Given the description of an element on the screen output the (x, y) to click on. 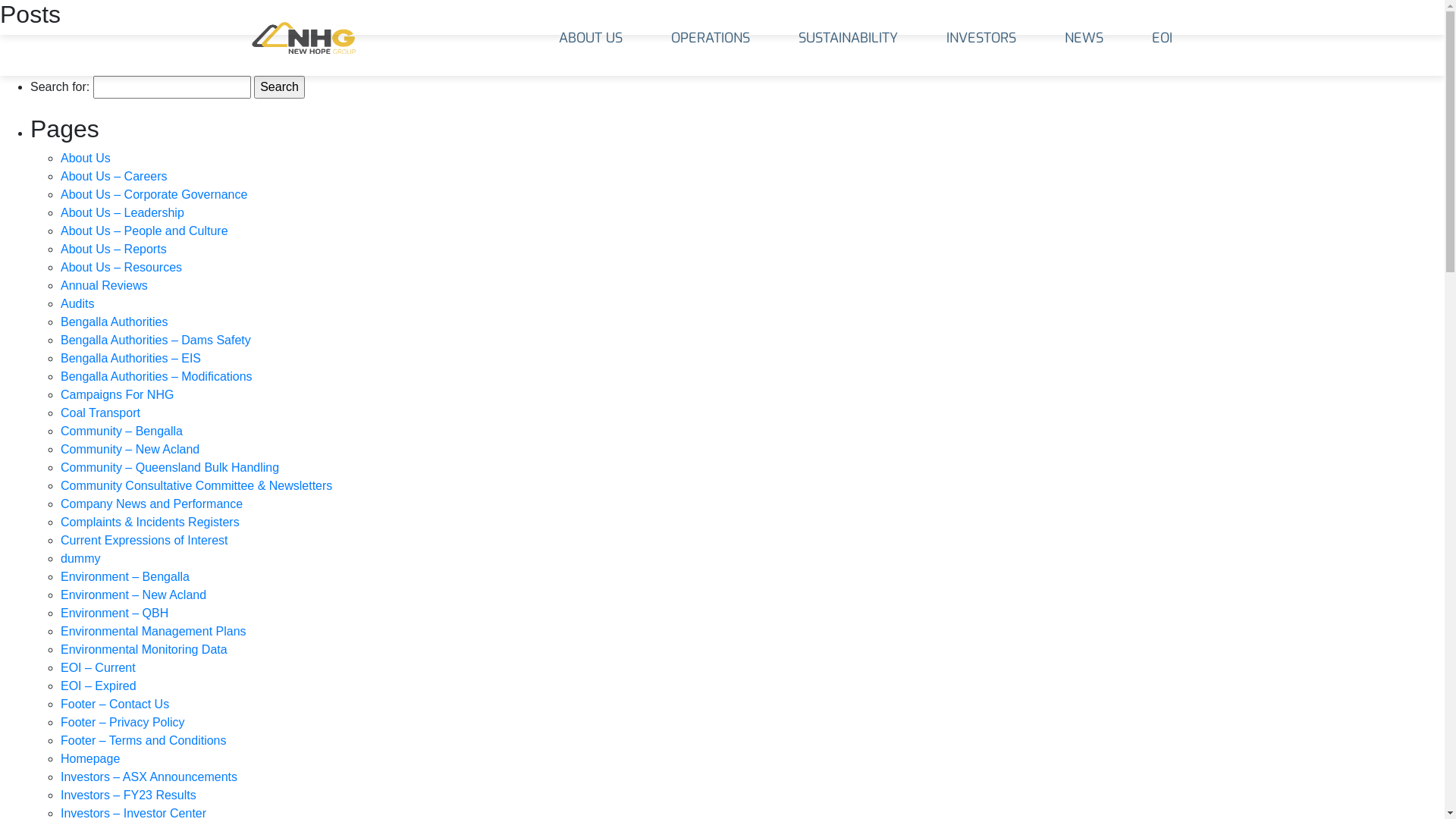
Search Element type: text (279, 86)
Bengalla Authorities Element type: text (113, 321)
SUSTAINABILITY Element type: text (847, 37)
Coal Transport Element type: text (100, 412)
About Us Element type: text (85, 157)
Environmental Management Plans Element type: text (153, 630)
Complaints & Incidents Registers Element type: text (149, 521)
OPERATIONS Element type: text (709, 37)
NEWS Element type: text (1083, 37)
INVESTORS Element type: text (981, 37)
Campaigns For NHG Element type: text (116, 394)
Audits Element type: text (77, 303)
dummy Element type: text (80, 558)
Community Consultative Committee & Newsletters Element type: text (196, 485)
Current Expressions of Interest Element type: text (144, 539)
Company News and Performance Element type: text (151, 503)
EOI Element type: text (1160, 37)
Homepage Element type: text (89, 758)
Environmental Monitoring Data Element type: text (143, 649)
Annual Reviews Element type: text (103, 285)
ABOUT US Element type: text (589, 37)
